Given the description of an element on the screen output the (x, y) to click on. 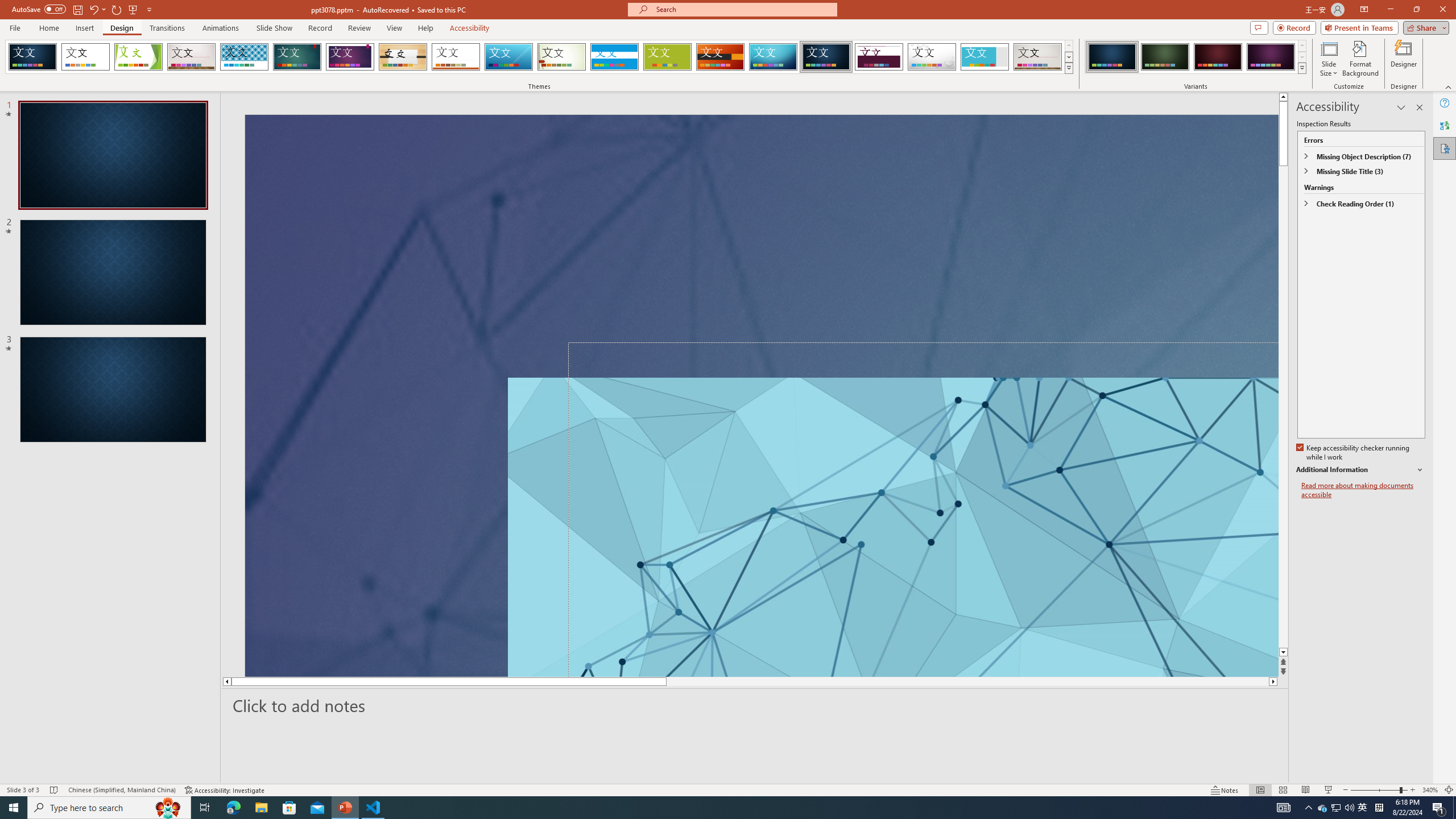
Damask Variant 2 (1164, 56)
AutomationID: ThemeVariantsGallery (1195, 56)
Keep accessibility checker running while I work (1353, 452)
Basis (667, 56)
Banded (614, 56)
Damask Variant 4 (1270, 56)
